Given the description of an element on the screen output the (x, y) to click on. 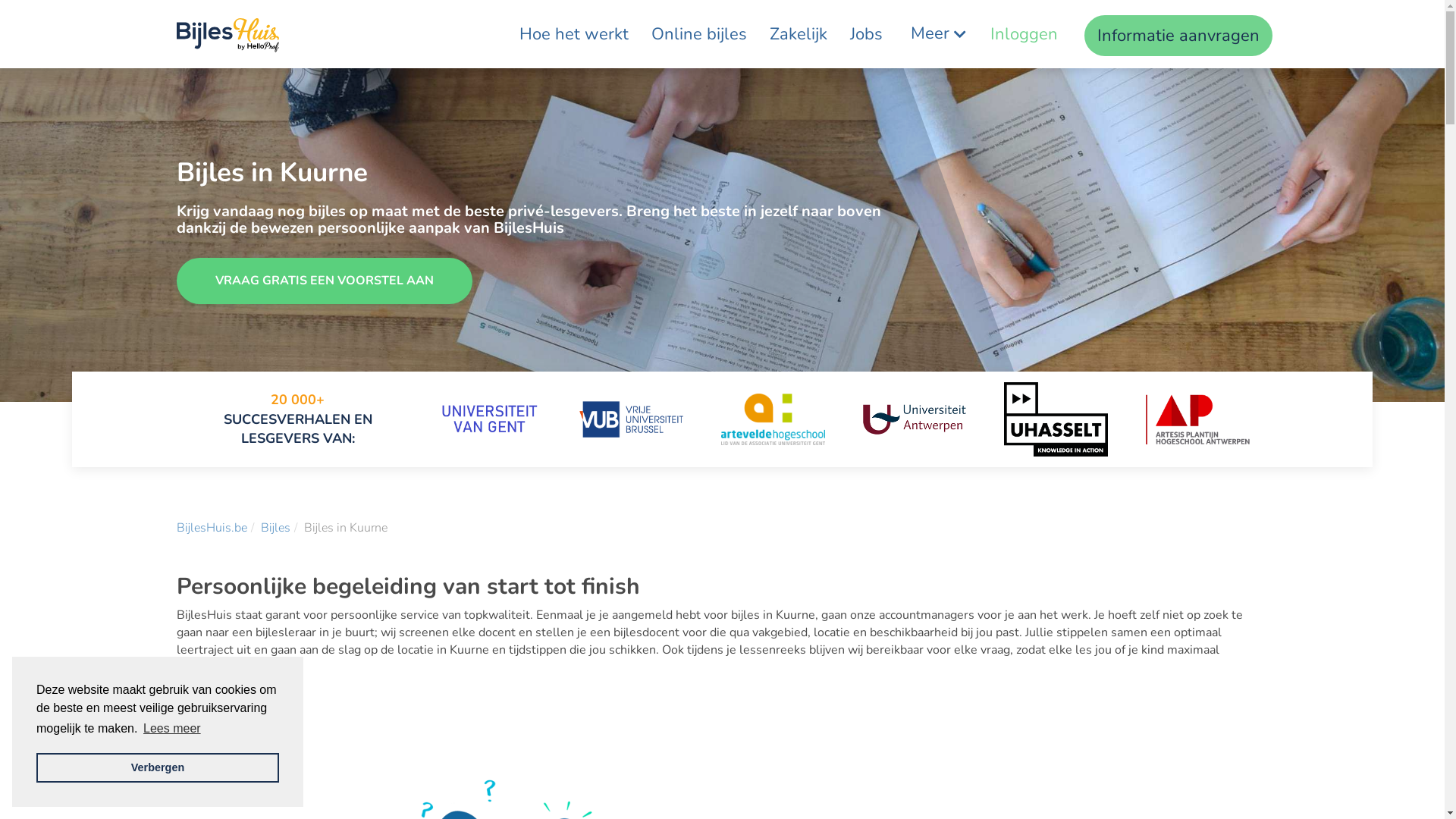
Hoe het werkt Element type: text (574, 34)
BijlesHuis.be Element type: text (210, 527)
Meer Element type: text (937, 33)
Online bijles Element type: text (699, 34)
Jobs Element type: text (866, 34)
Informatie aanvragen Element type: text (1178, 35)
VRAAG GRATIS EEN VOORSTEL AAN Element type: text (323, 280)
Lees meer Element type: text (172, 728)
Inloggen Element type: text (1023, 34)
Bijles Element type: text (275, 527)
Verbergen Element type: text (157, 767)
Zakelijk Element type: text (798, 34)
Toon meer Element type: text (206, 699)
